Given the description of an element on the screen output the (x, y) to click on. 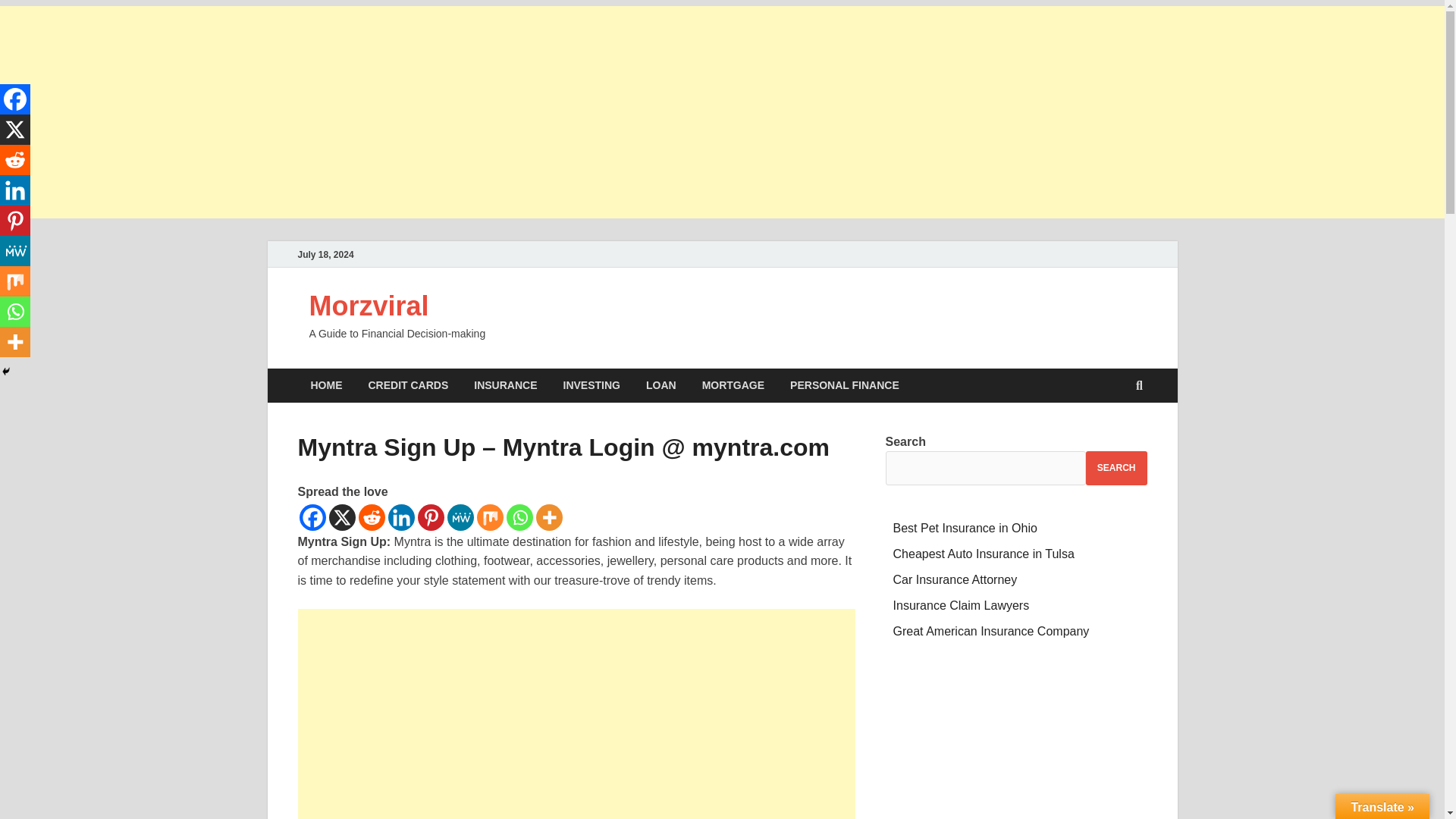
Advertisement (575, 714)
INSURANCE (505, 385)
LOAN (660, 385)
Facebook (15, 99)
INVESTING (591, 385)
X (15, 129)
Mix (489, 517)
MORTGAGE (732, 385)
Pinterest (430, 517)
More (548, 517)
X (342, 517)
Facebook (311, 517)
PERSONAL FINANCE (844, 385)
HOME (326, 385)
CREDIT CARDS (408, 385)
